Given the description of an element on the screen output the (x, y) to click on. 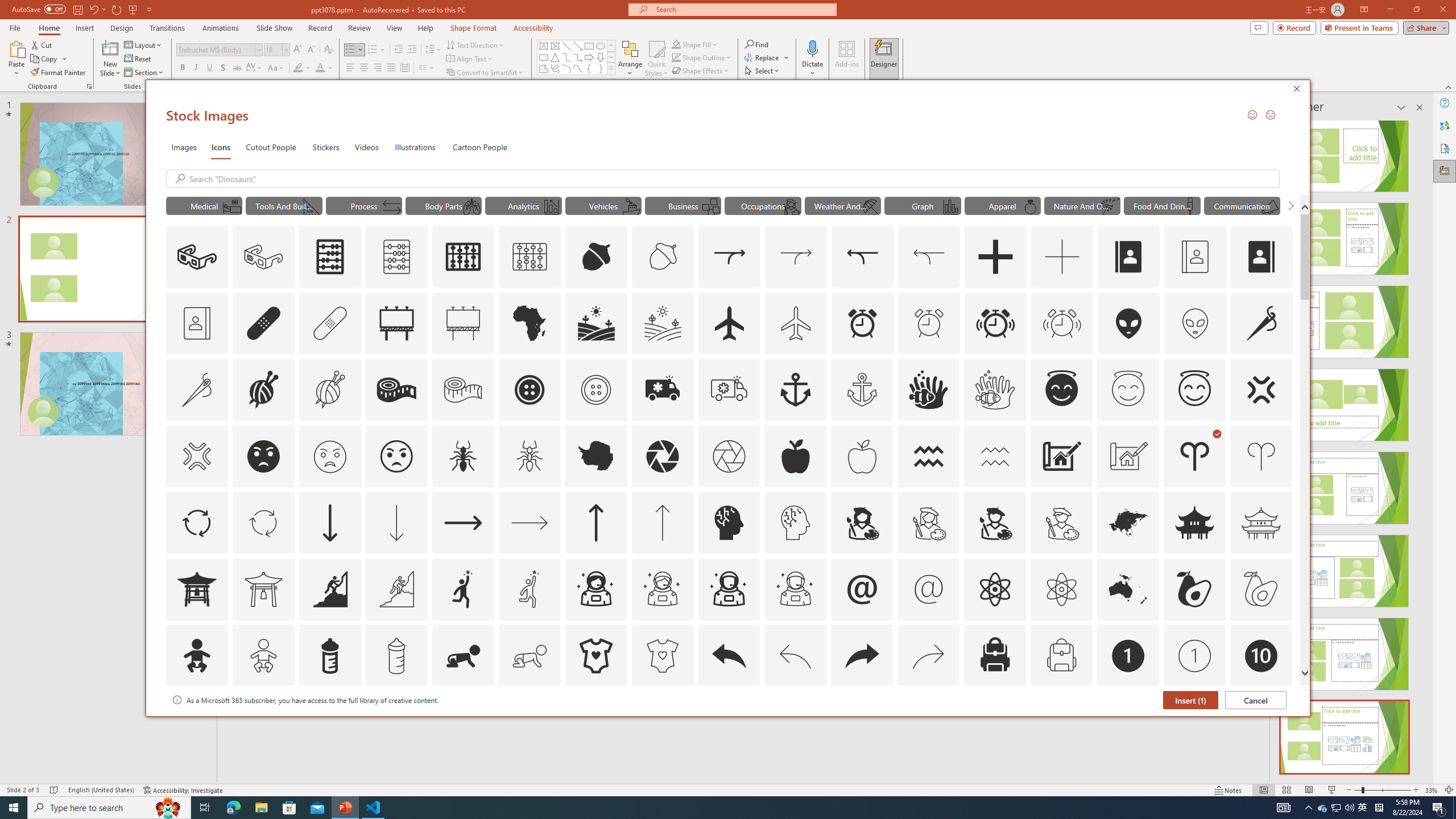
AutomationID: Icons_AddressBook_RTL_M (197, 323)
AutomationID: Icons_TugBoat_M (631, 206)
AutomationID: Icons_AlienFace (1128, 323)
AutomationID: Icons_Ring_M (1030, 206)
AutomationID: Icons_Badge9 (1194, 721)
"Body Parts" Icons. (443, 205)
AutomationID: Icons_3dGlasses_M (263, 256)
